Given the description of an element on the screen output the (x, y) to click on. 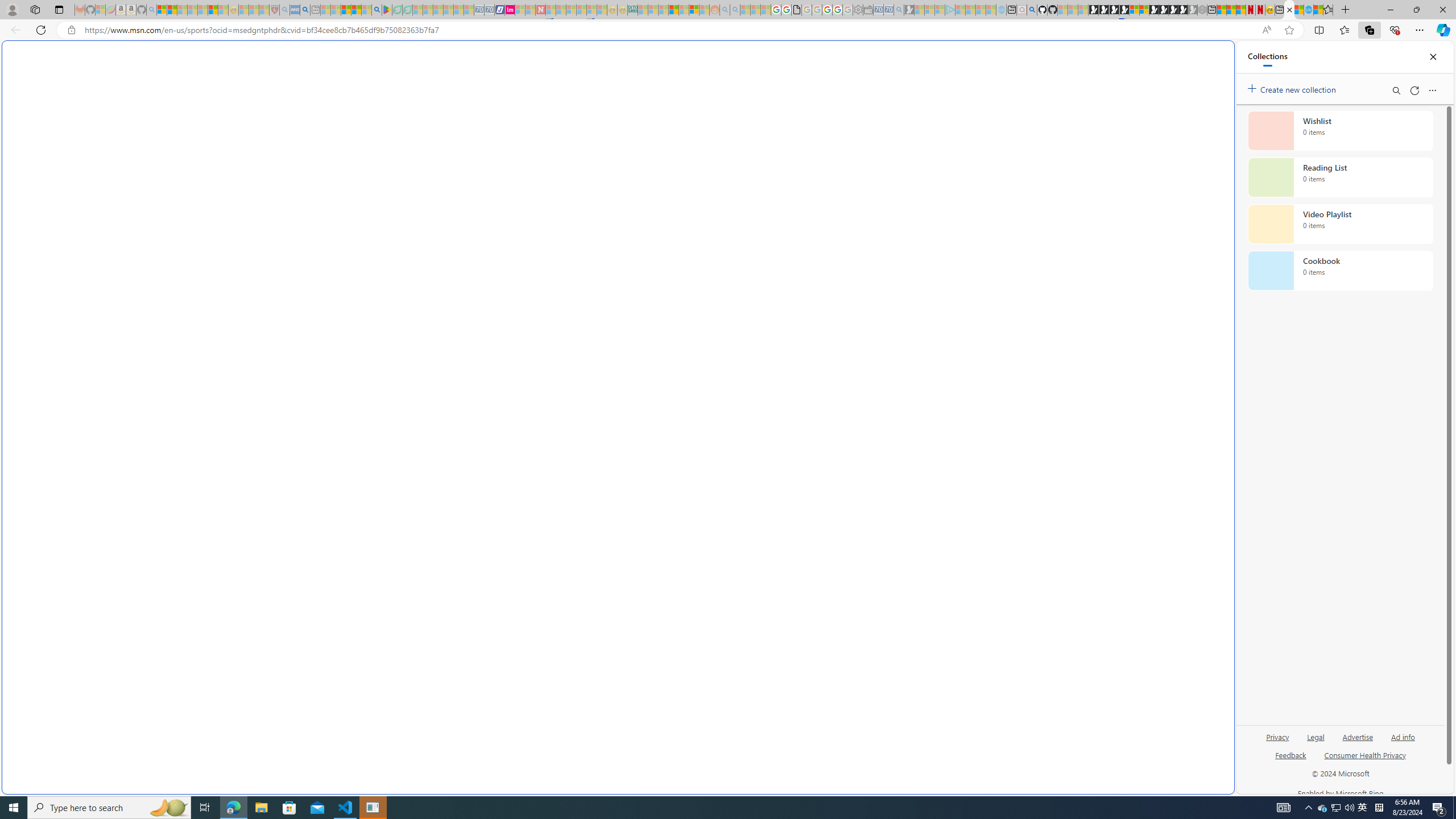
Search or enter web address (922, 108)
Cookbook collection, 0 items (1339, 270)
